Given the description of an element on the screen output the (x, y) to click on. 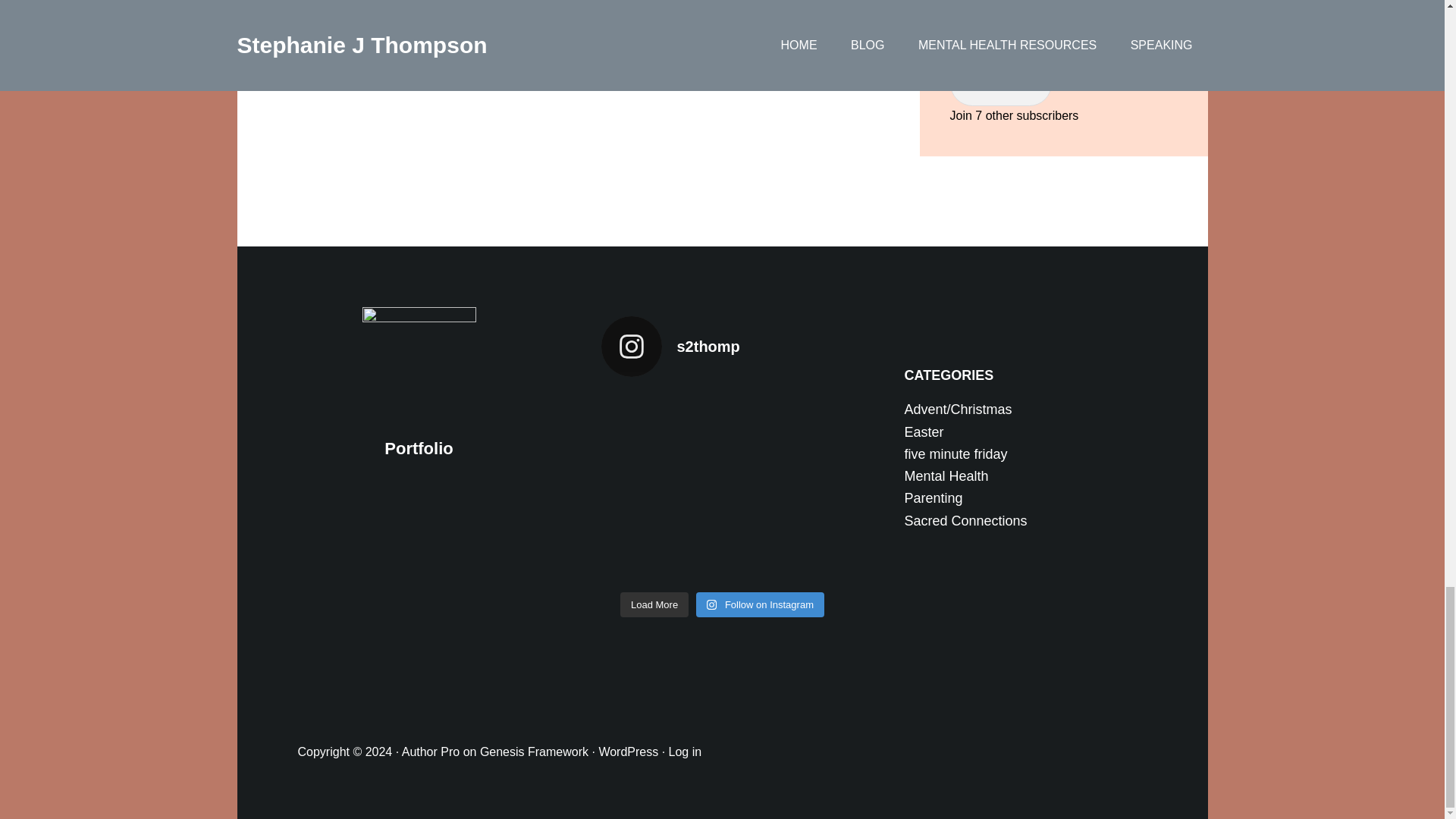
Comment Form (578, 98)
